Given the description of an element on the screen output the (x, y) to click on. 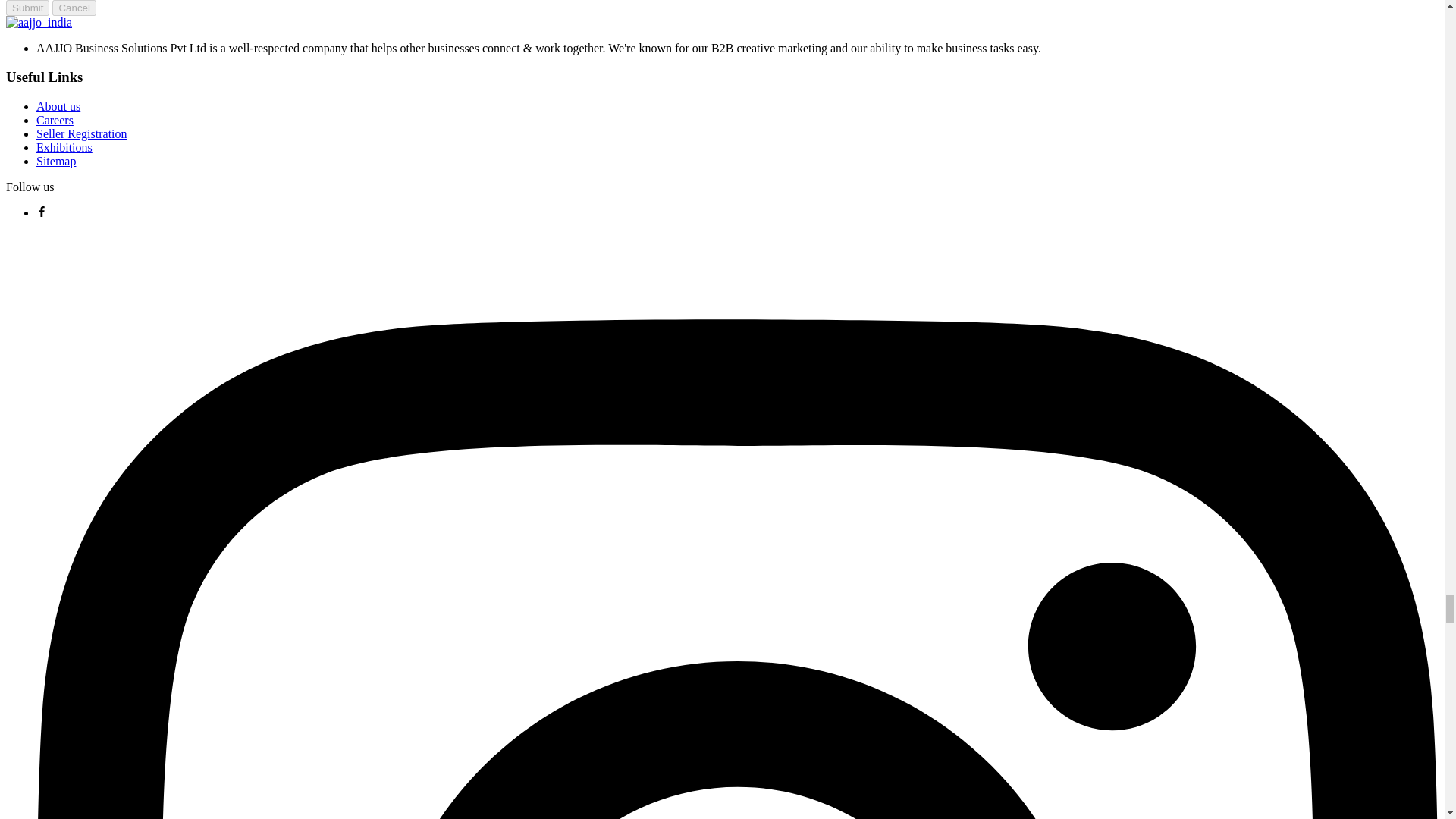
Sitemap (55, 160)
Home (38, 22)
Exhibitions (64, 146)
About us (58, 106)
Cancel (74, 7)
Submit (27, 7)
Seller Registration (82, 133)
Careers (55, 119)
